Given the description of an element on the screen output the (x, y) to click on. 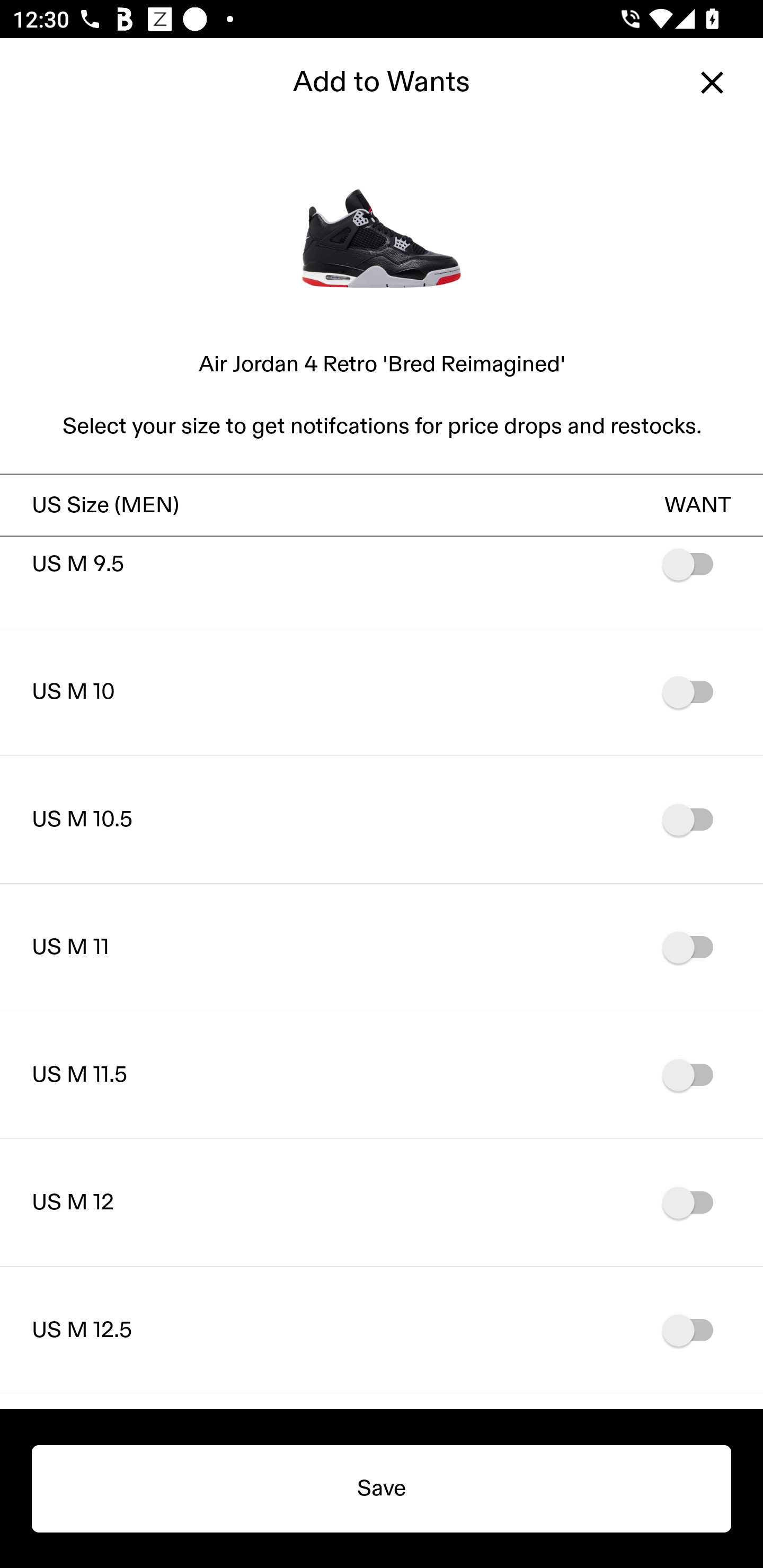
Save (381, 1488)
